Given the description of an element on the screen output the (x, y) to click on. 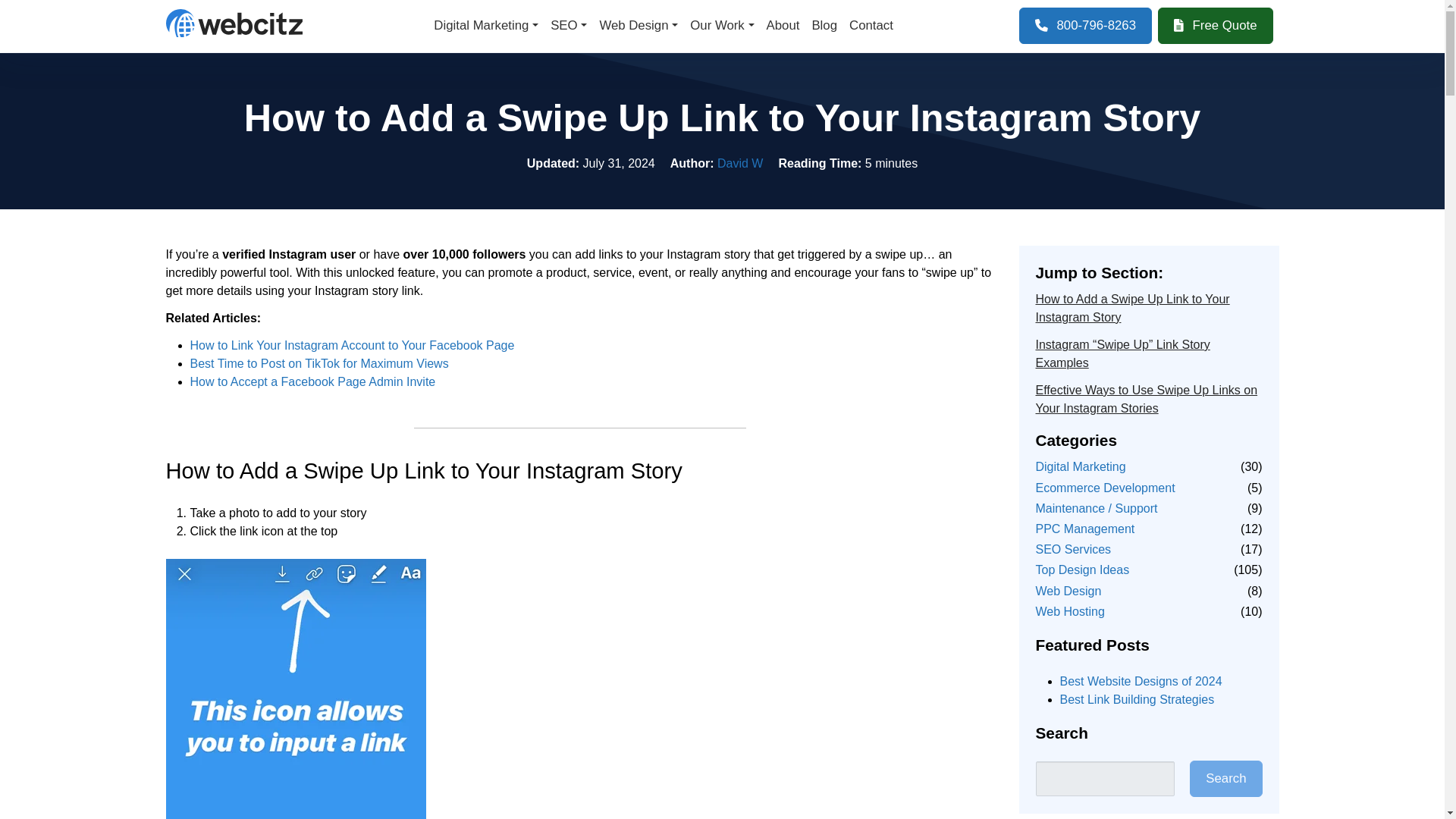
Web Design (638, 26)
Digital Marketing (486, 26)
SEO (568, 26)
WebCitz (233, 21)
Our Work (722, 26)
Contact (871, 26)
SEO (568, 26)
Digital Marketing (486, 26)
